Given the description of an element on the screen output the (x, y) to click on. 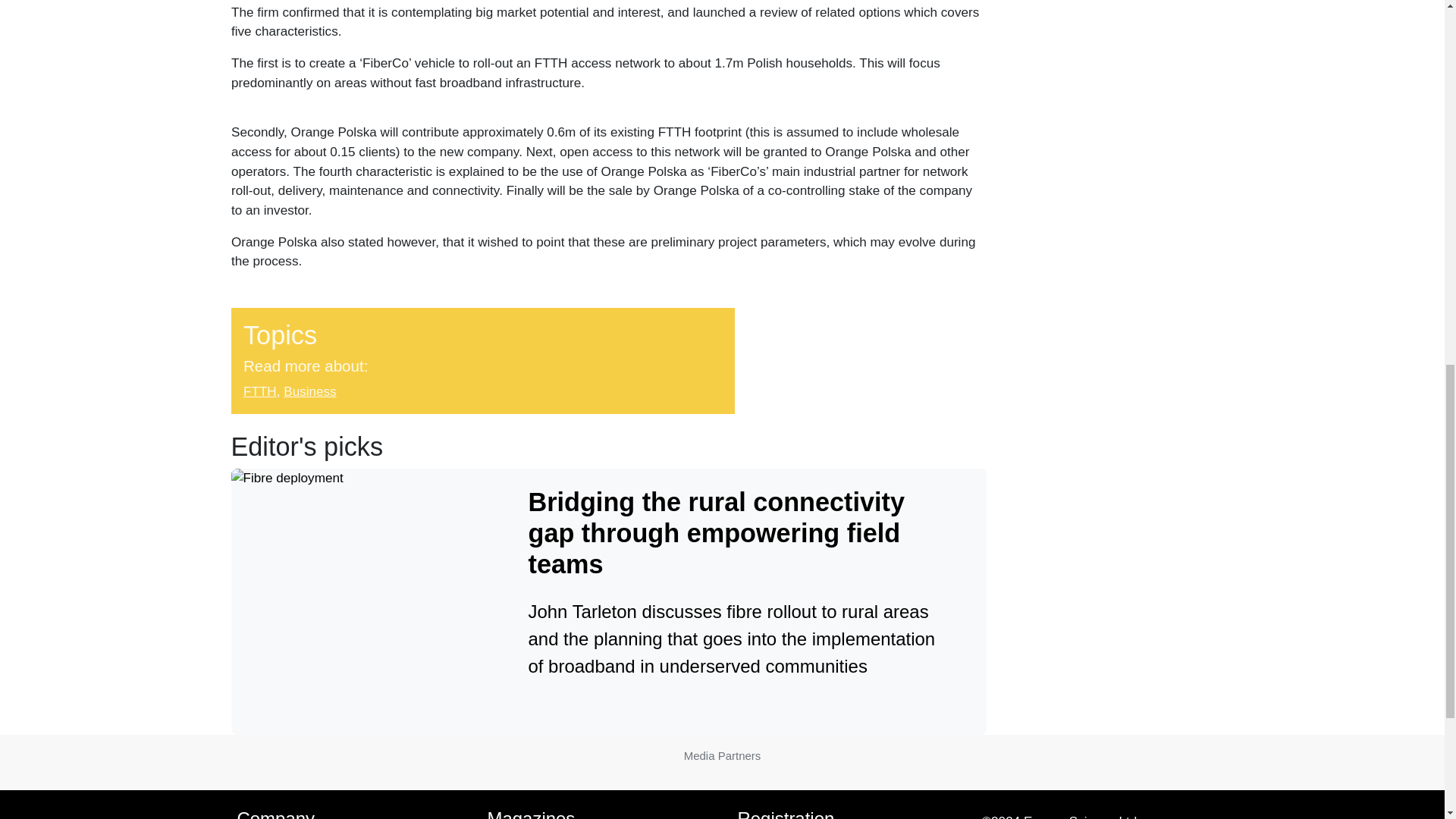
FTTH (259, 391)
Business (309, 391)
